Given the description of an element on the screen output the (x, y) to click on. 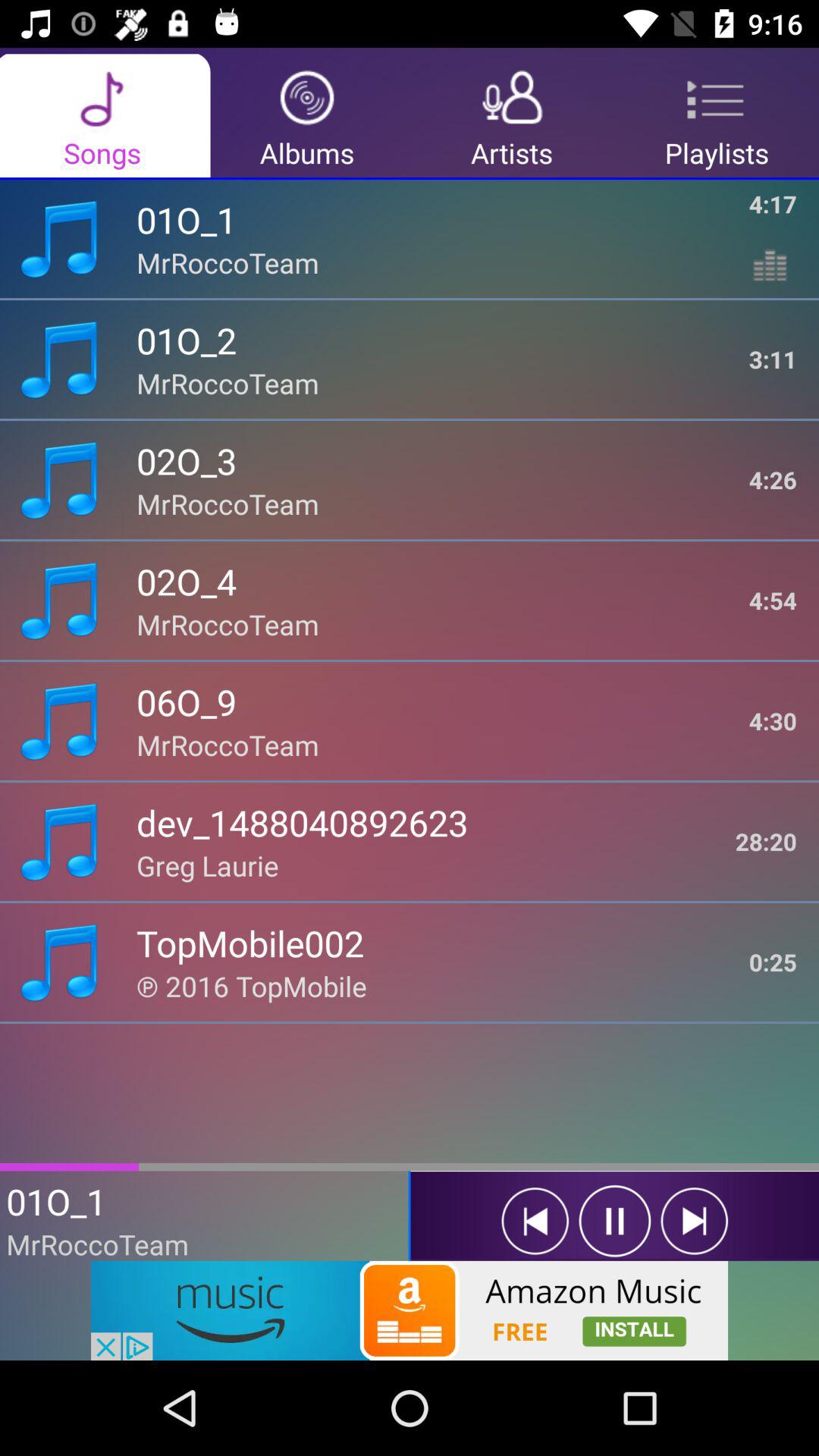
share the article (409, 1310)
